Given the description of an element on the screen output the (x, y) to click on. 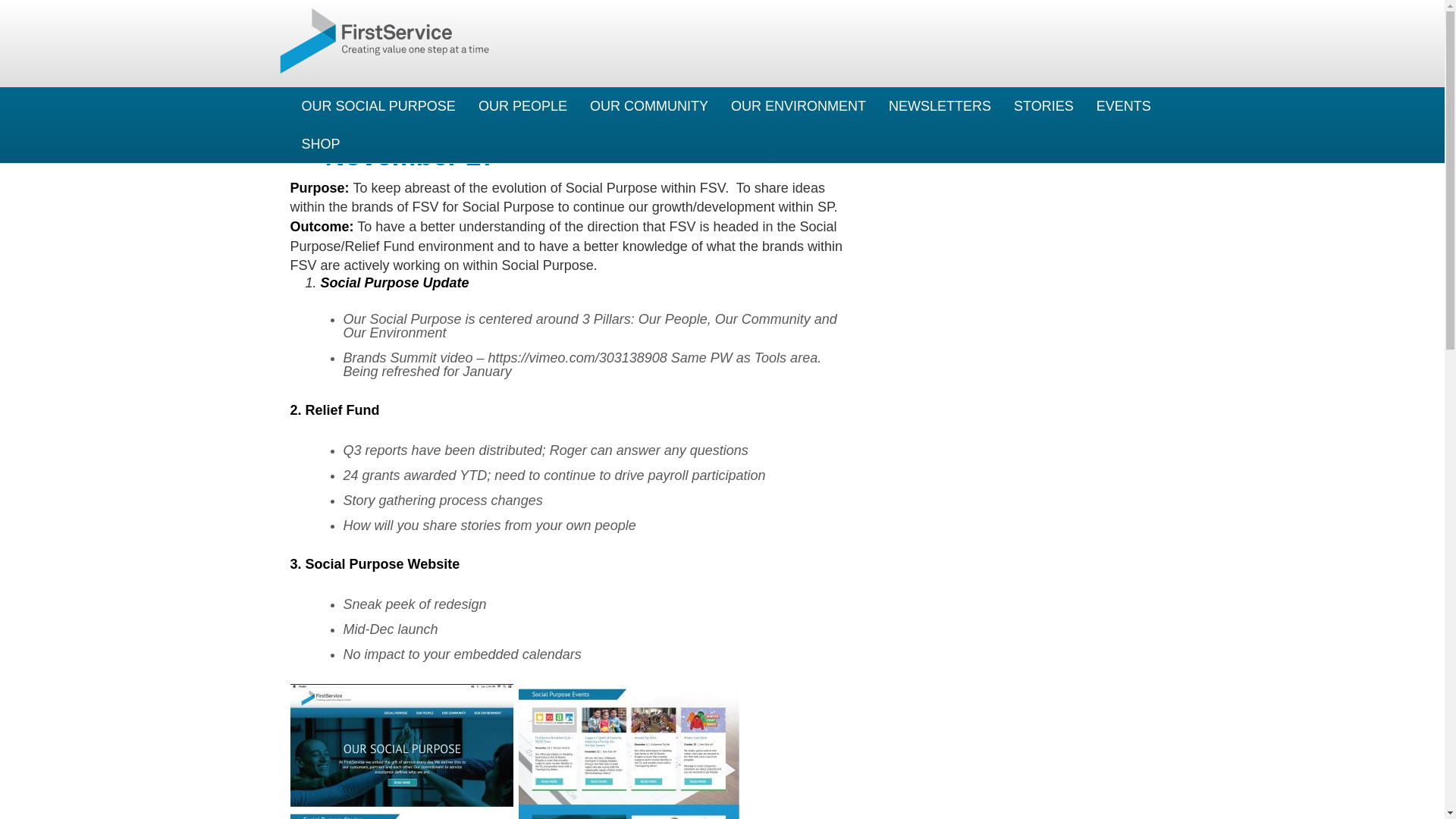
STORIES (1043, 105)
NEWSLETTERS (940, 105)
OUR ENVIRONMENT (798, 105)
OUR SOCIAL PURPOSE (377, 105)
FirstService Logo (387, 40)
OUR COMMUNITY (648, 105)
SHOP (319, 143)
OUR PEOPLE (522, 105)
EVENTS (1122, 105)
